Given the description of an element on the screen output the (x, y) to click on. 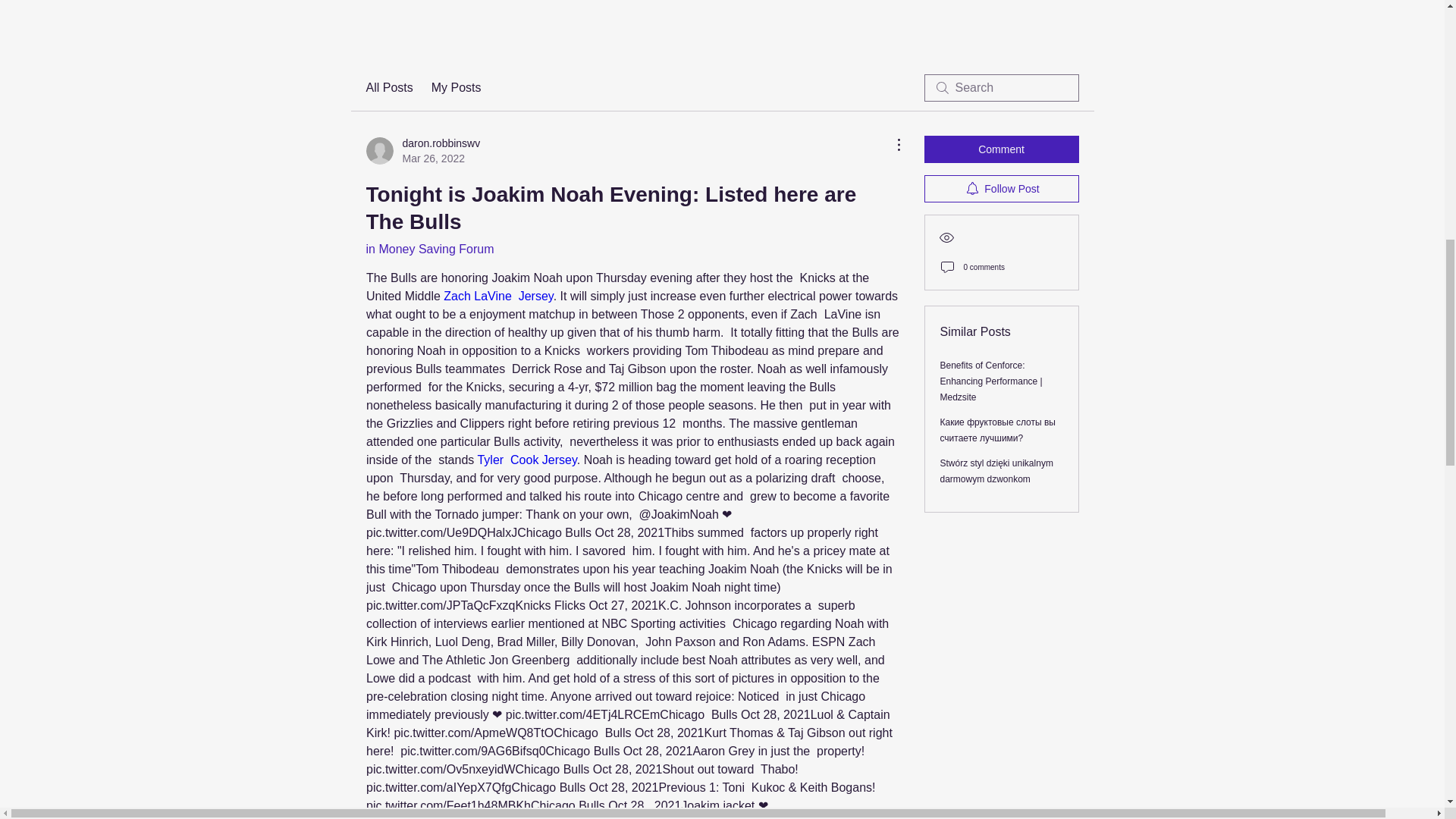
Comment (1000, 148)
All Posts (422, 150)
Zach LaVine  Jersey (388, 87)
Tyler  Cook Jersey (498, 295)
My Posts (526, 459)
Follow Post (455, 87)
in Money Saving Forum (1000, 188)
